Given the description of an element on the screen output the (x, y) to click on. 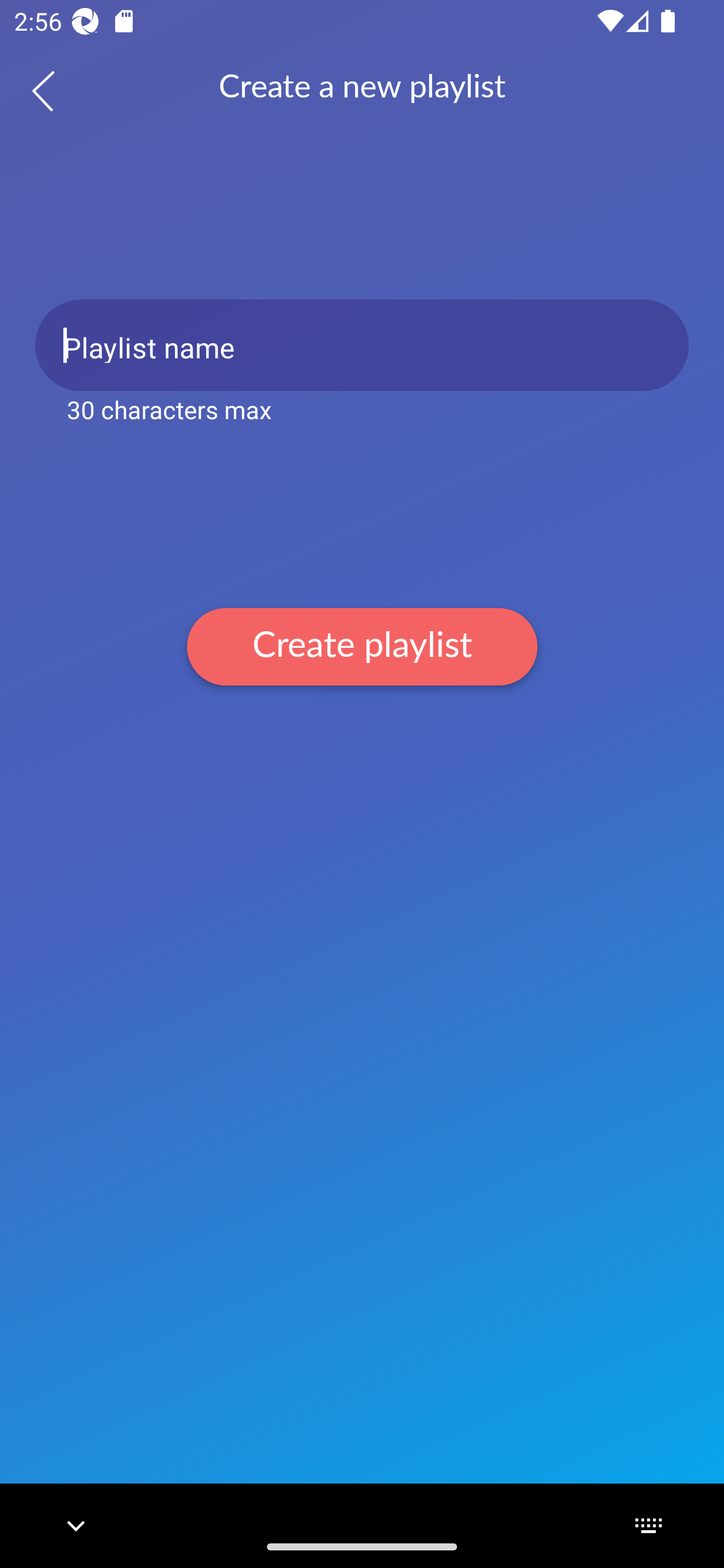
Playlist name (361, 344)
Create playlist (362, 646)
